Given the description of an element on the screen output the (x, y) to click on. 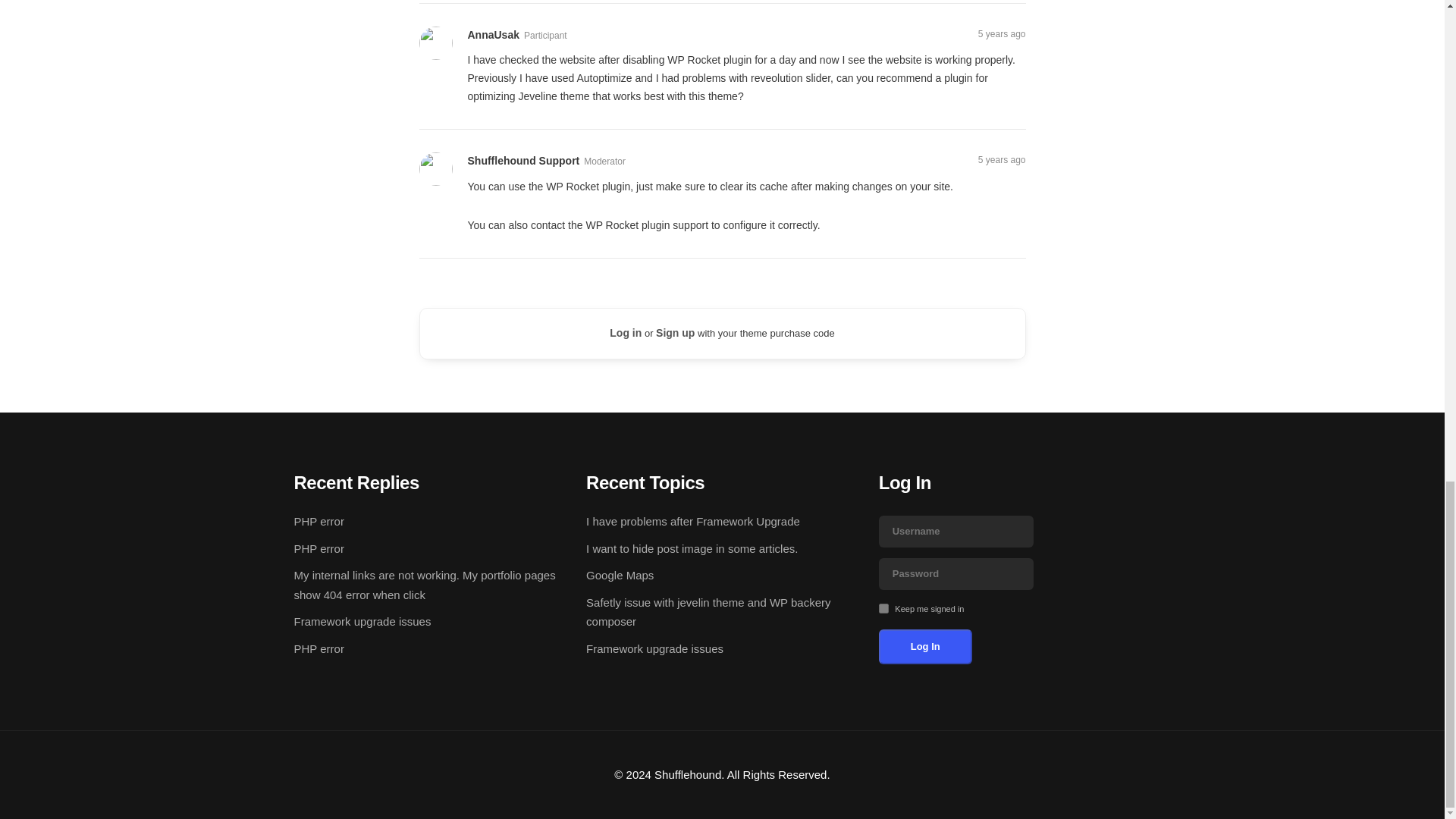
forever (883, 608)
Shufflehound Support (523, 161)
PHP error (318, 548)
5 years ago (1002, 159)
AnnaUsak (492, 35)
Log in (626, 333)
View Shufflehound Support's profile (523, 161)
PHP error (318, 521)
5 years ago (1002, 33)
View Shufflehound Support's profile (436, 167)
